Given the description of an element on the screen output the (x, y) to click on. 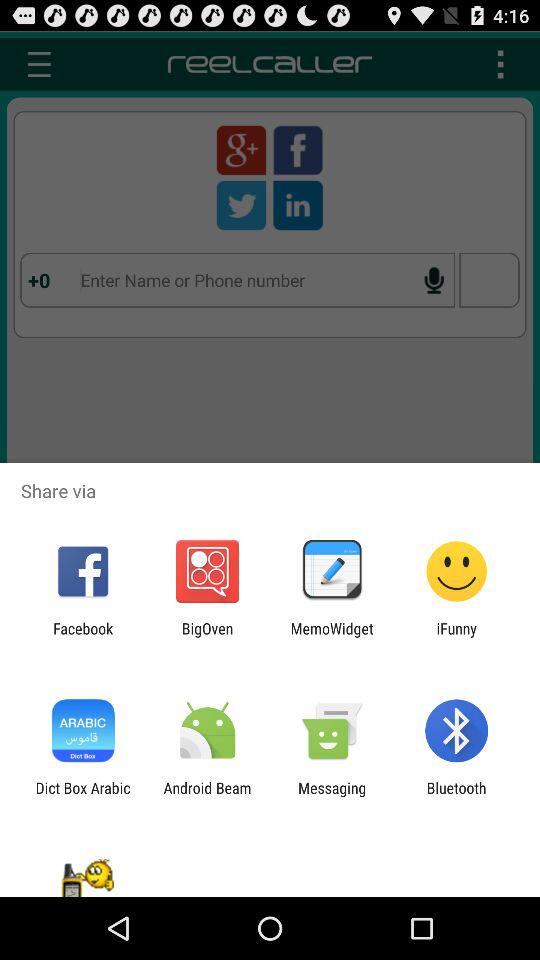
launch the app next to bluetooth icon (332, 796)
